Given the description of an element on the screen output the (x, y) to click on. 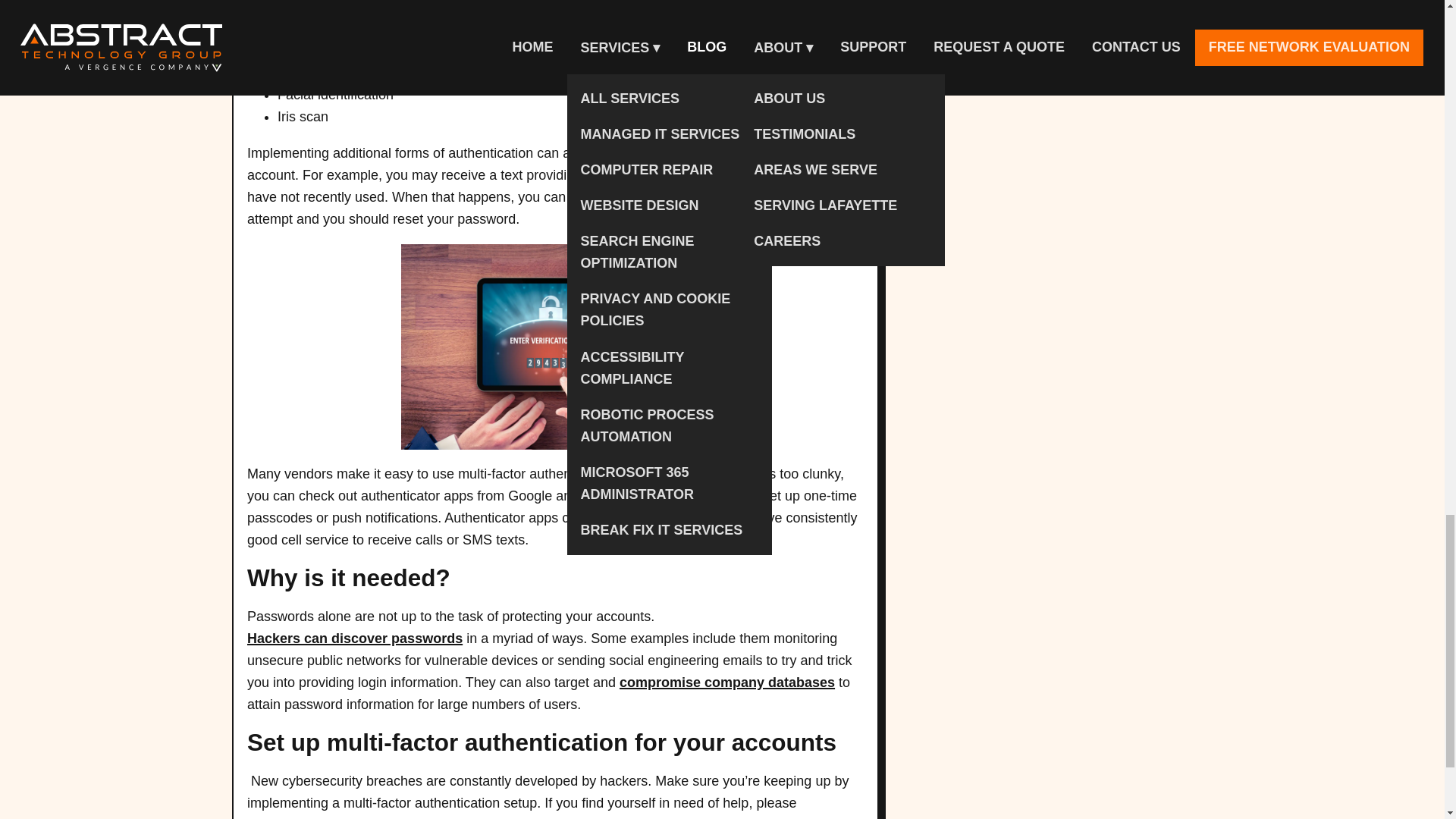
compromise company databases (727, 682)
Hackers can discover passwords (355, 639)
contact the Abstract team (330, 816)
